Given the description of an element on the screen output the (x, y) to click on. 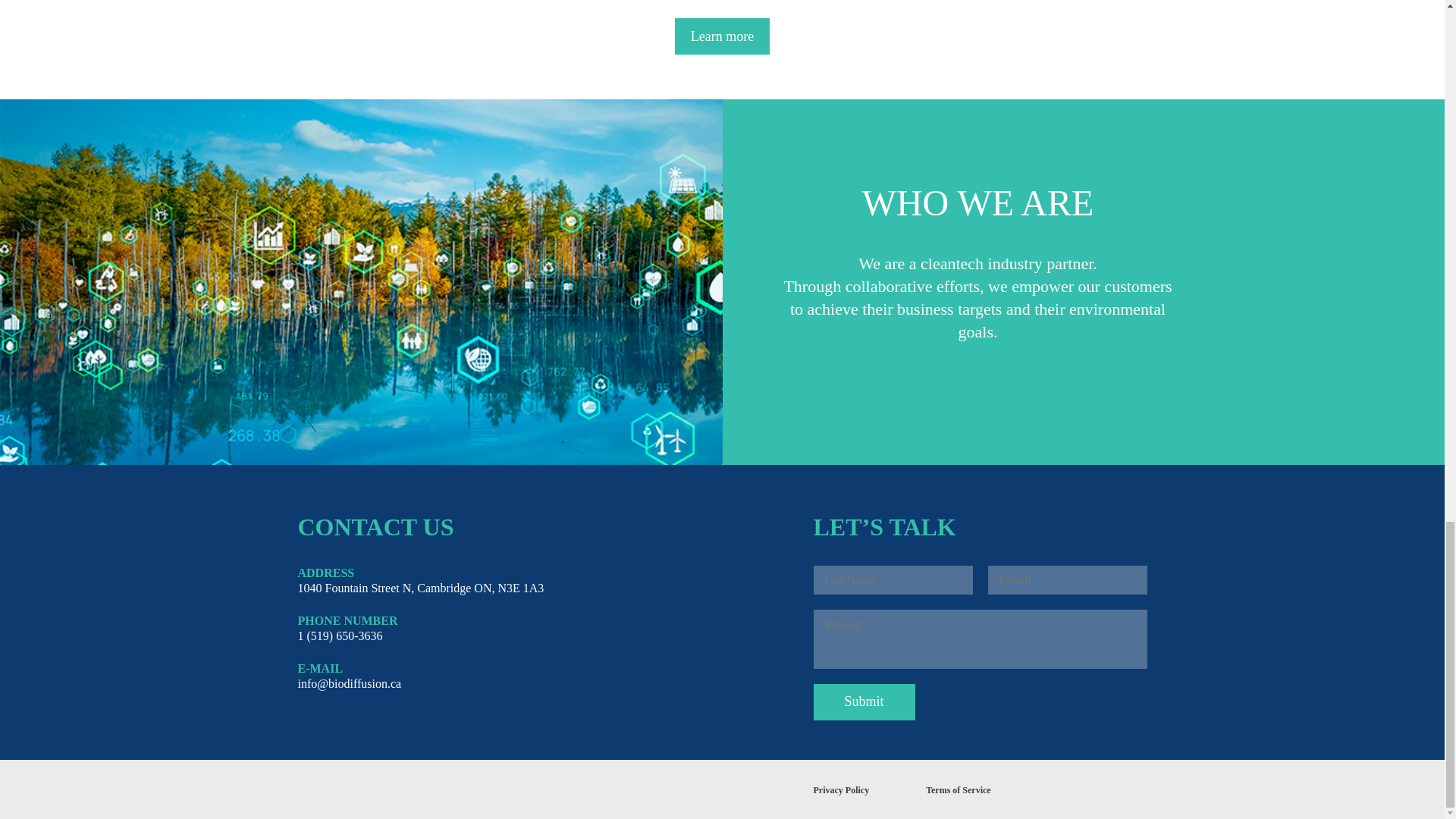
Terms of Service (958, 789)
Submit (863, 701)
Privacy Policy (840, 789)
Learn more (722, 36)
1040 Fountain Street N, Cambridge ON, N3E 1A3 (420, 587)
